Given the description of an element on the screen output the (x, y) to click on. 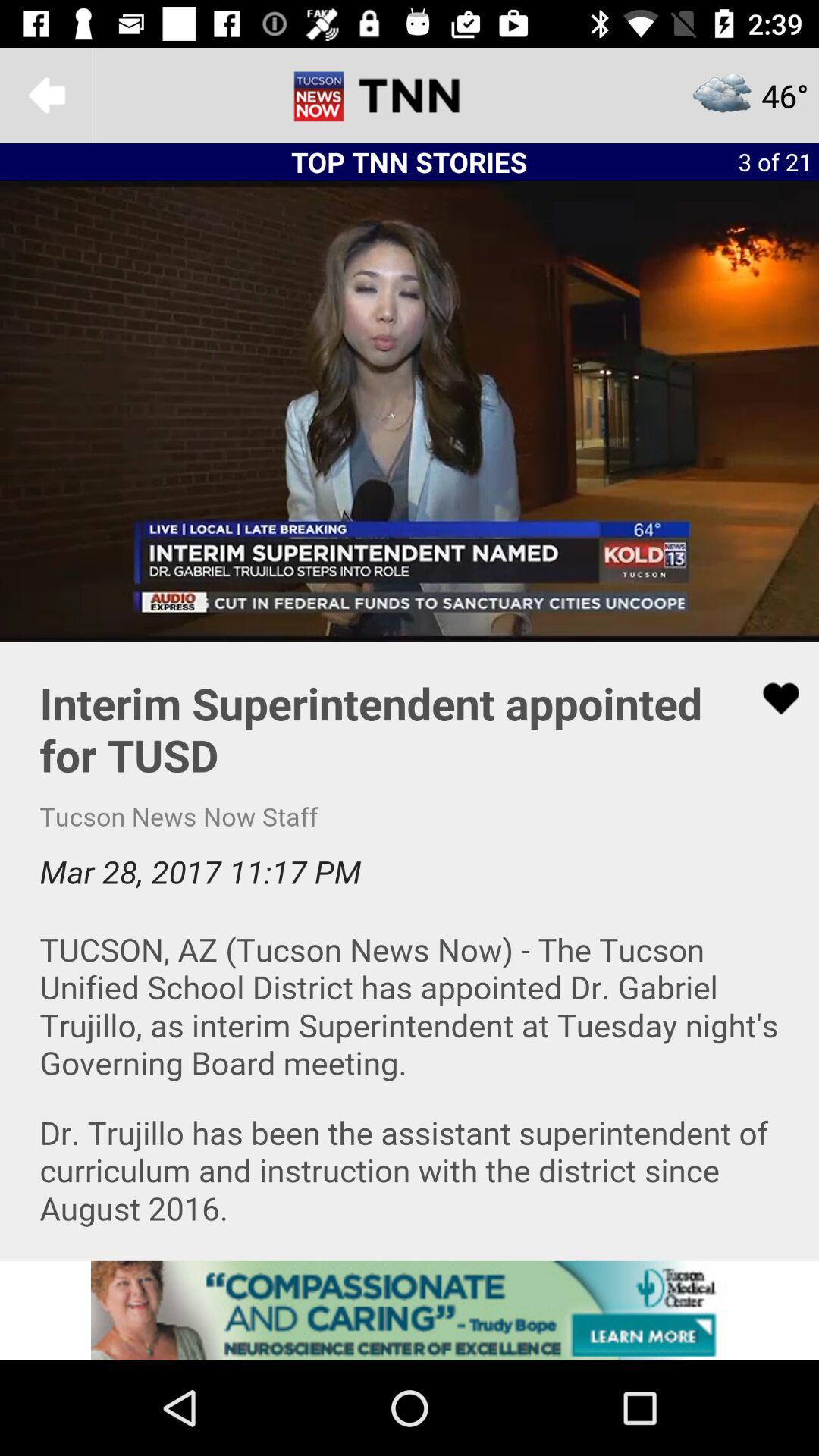
love the article (771, 698)
